Given the description of an element on the screen output the (x, y) to click on. 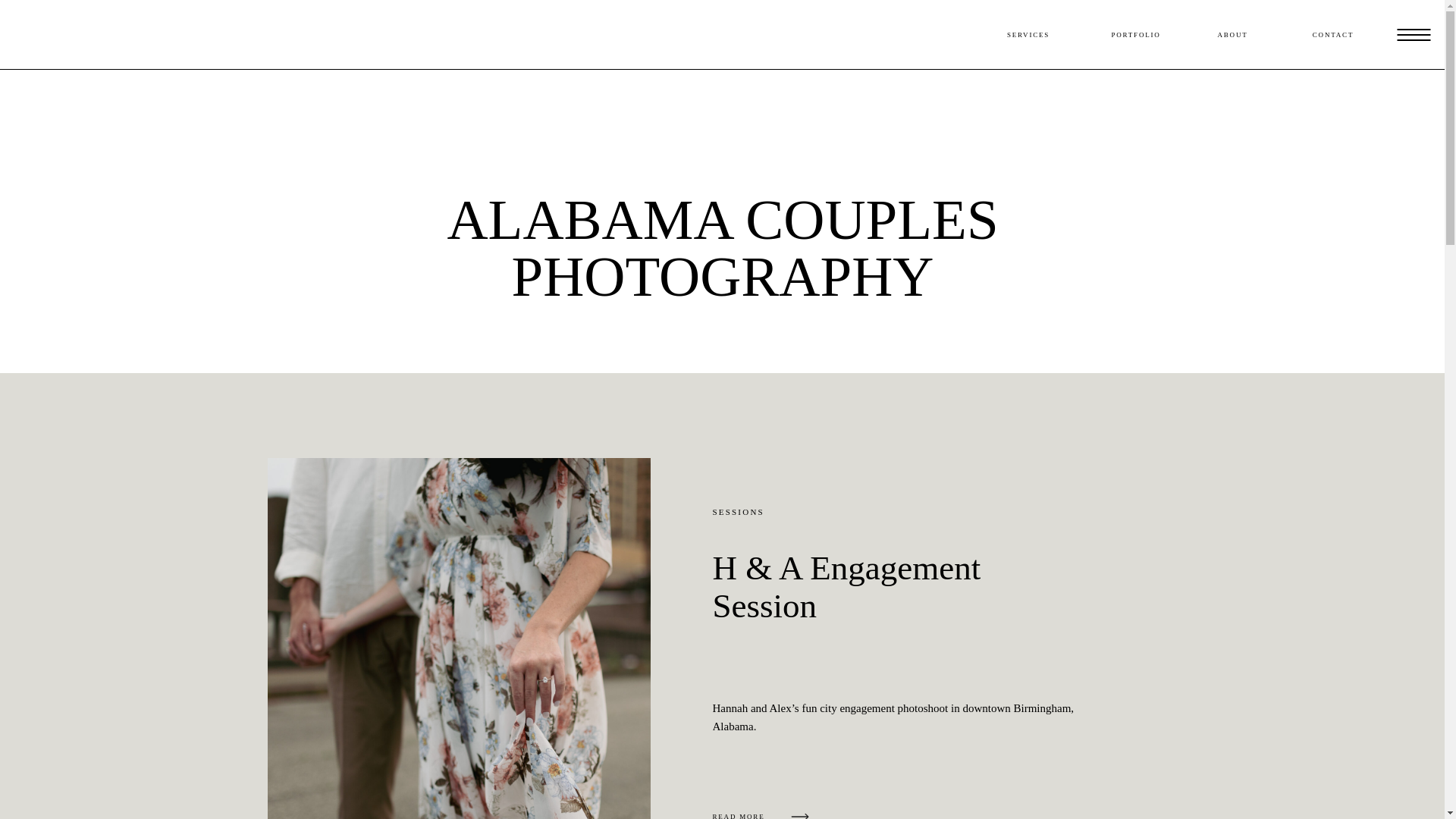
READ MORE (761, 812)
PORTFOLIO (1135, 35)
SESSIONS (738, 511)
CONTACT (1333, 35)
SERVICES (1028, 35)
ABOUT (1232, 35)
